Given the description of an element on the screen output the (x, y) to click on. 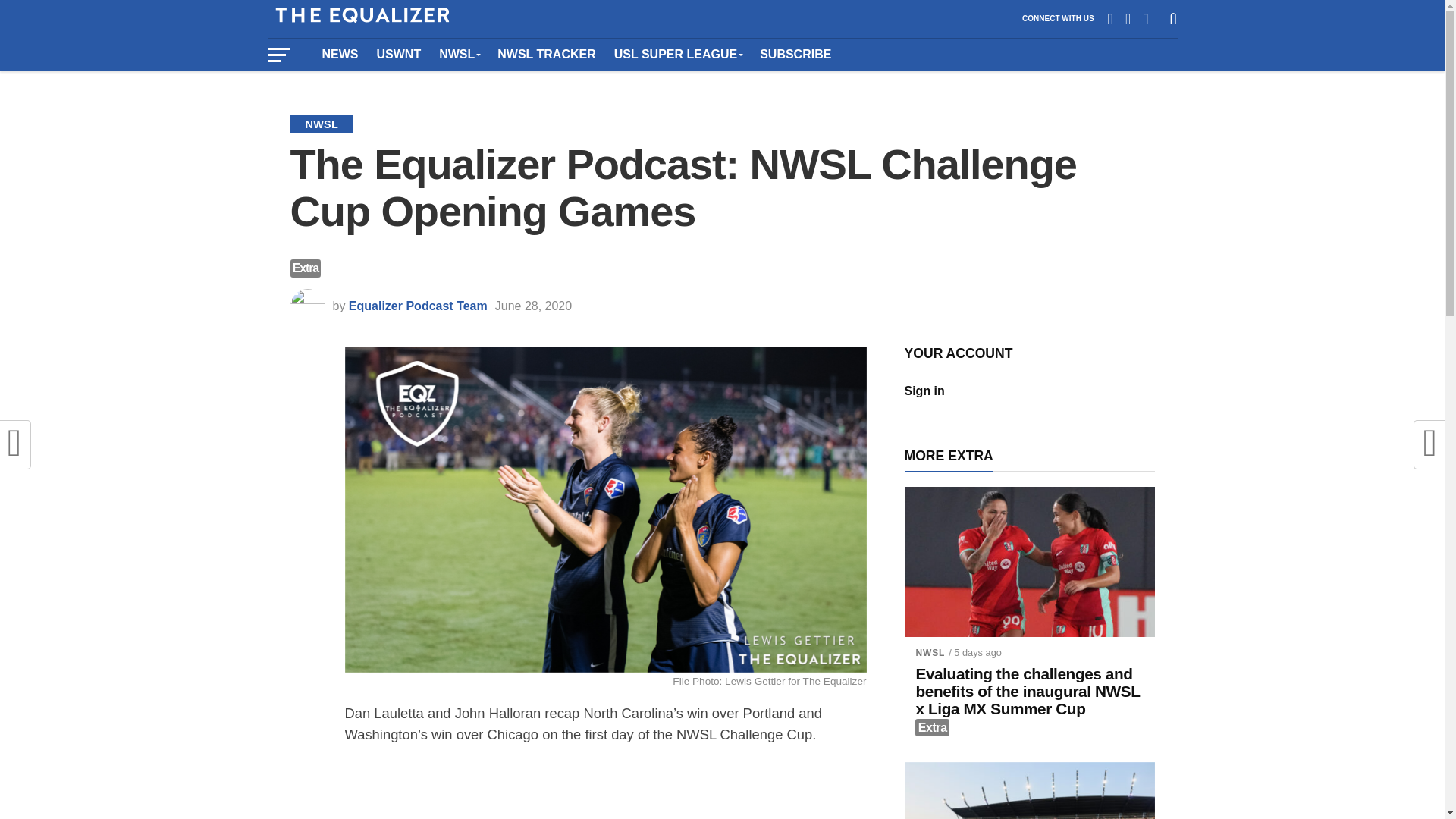
NEWS (339, 54)
Posts by Equalizer Podcast Team (418, 305)
USWNT (397, 54)
NWSL (458, 54)
